Given the description of an element on the screen output the (x, y) to click on. 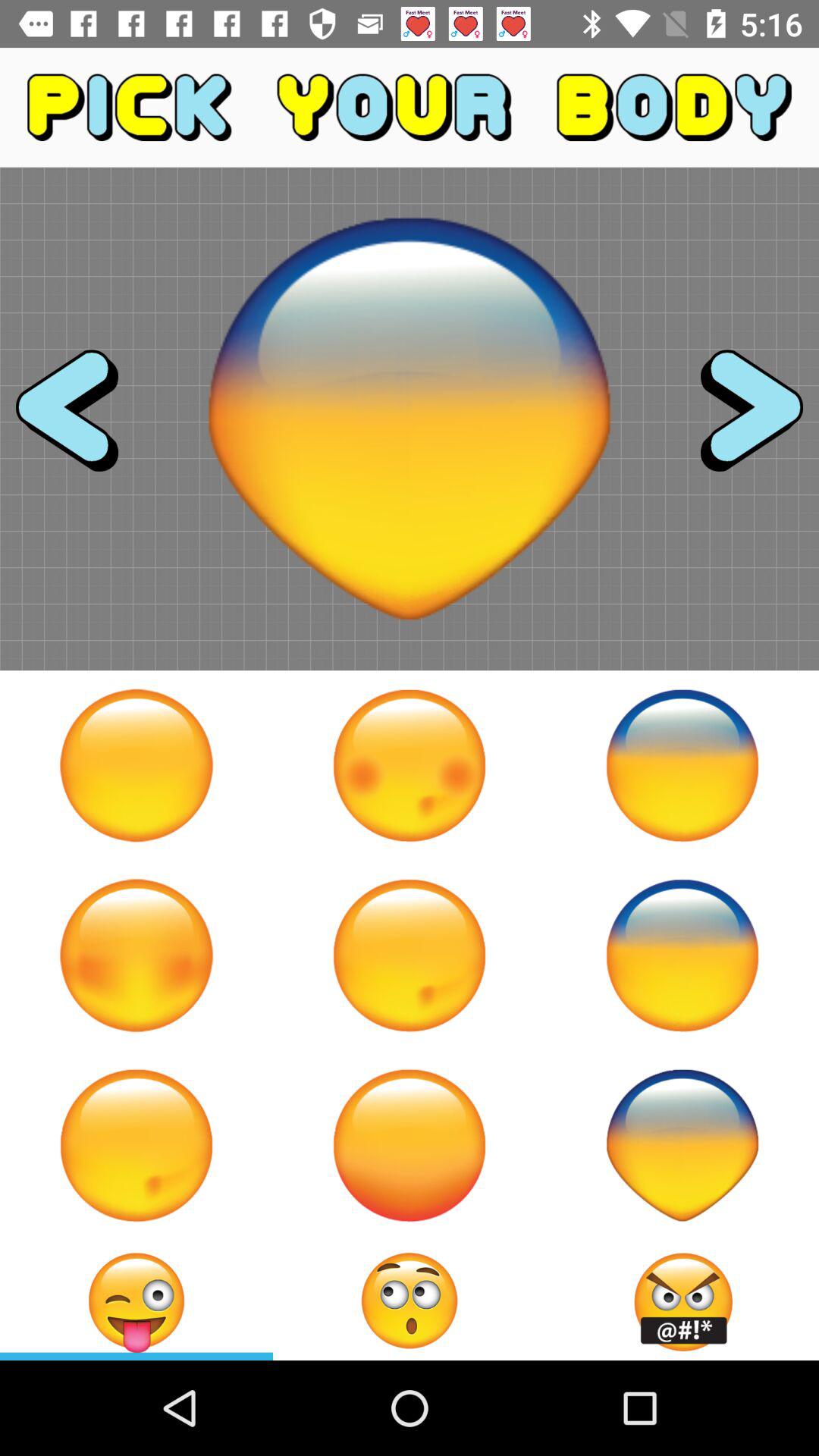
select emoji (682, 765)
